Given the description of an element on the screen output the (x, y) to click on. 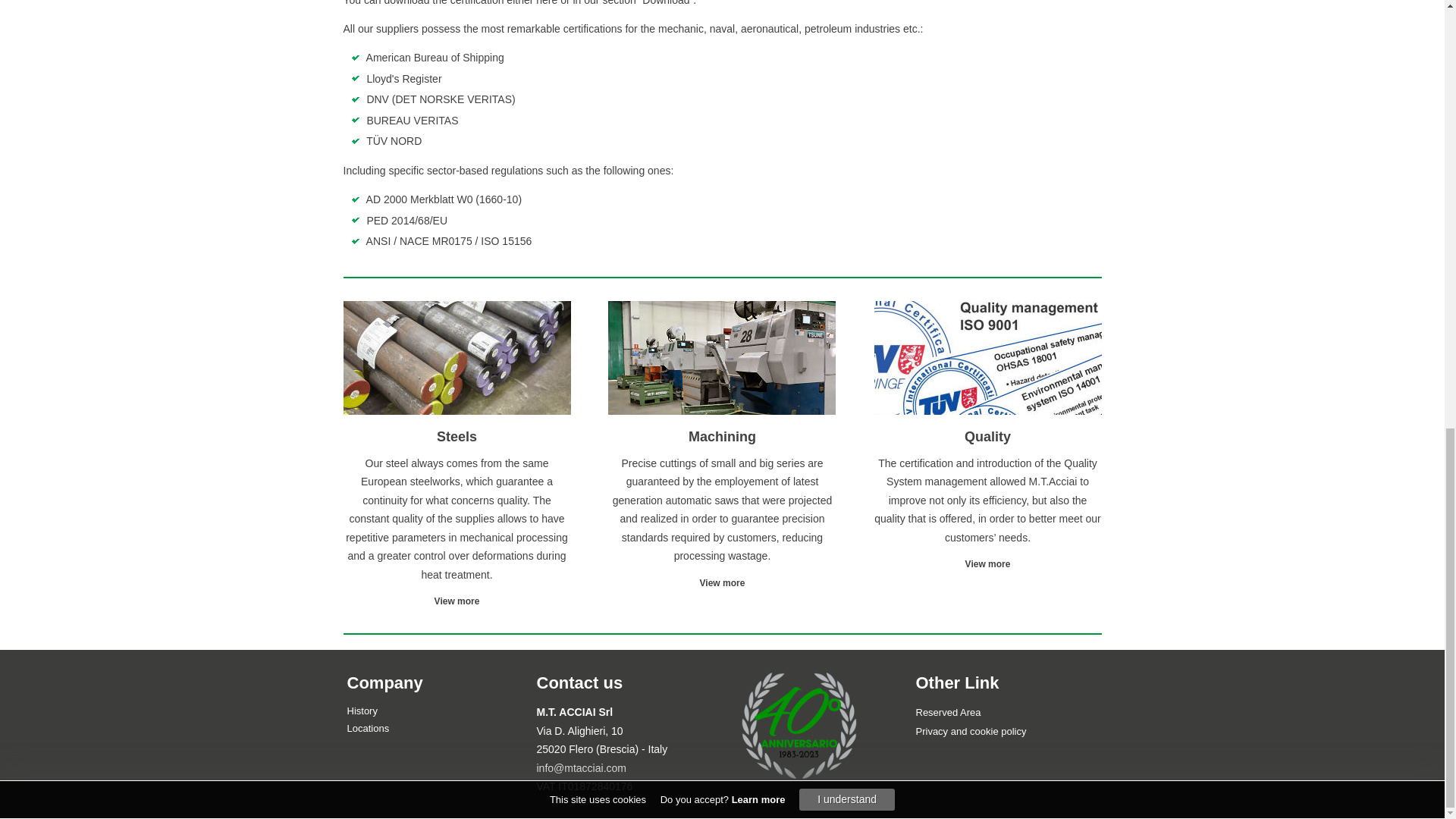
Reserved Area (948, 712)
Steels (456, 601)
Machining (722, 583)
Privacy and cookie policy (970, 731)
Quality System (987, 563)
